Given the description of an element on the screen output the (x, y) to click on. 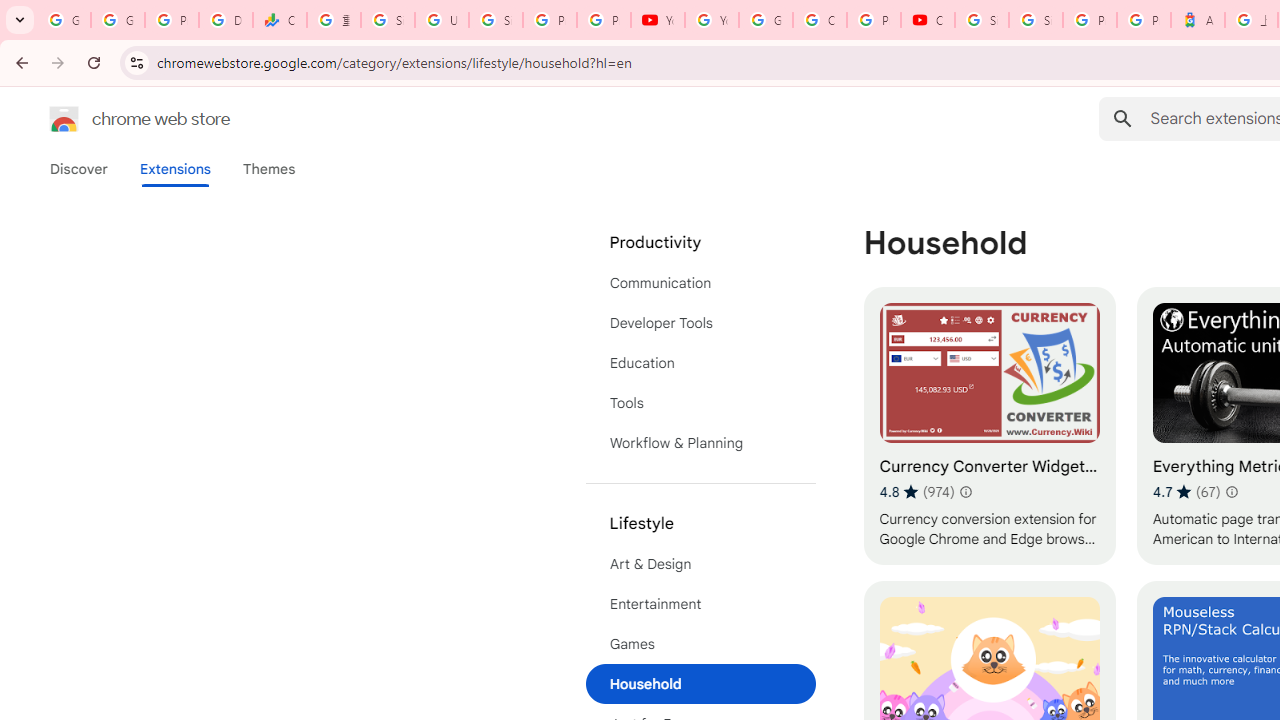
Themes (269, 169)
YouTube (711, 20)
Atour Hotel - Google hotels (1197, 20)
Currencies - Google Finance (280, 20)
Household (selected) (700, 683)
Art & Design (700, 563)
Sign in - Google Accounts (1035, 20)
Sign in - Google Accounts (387, 20)
Entertainment (700, 603)
